Given the description of an element on the screen output the (x, y) to click on. 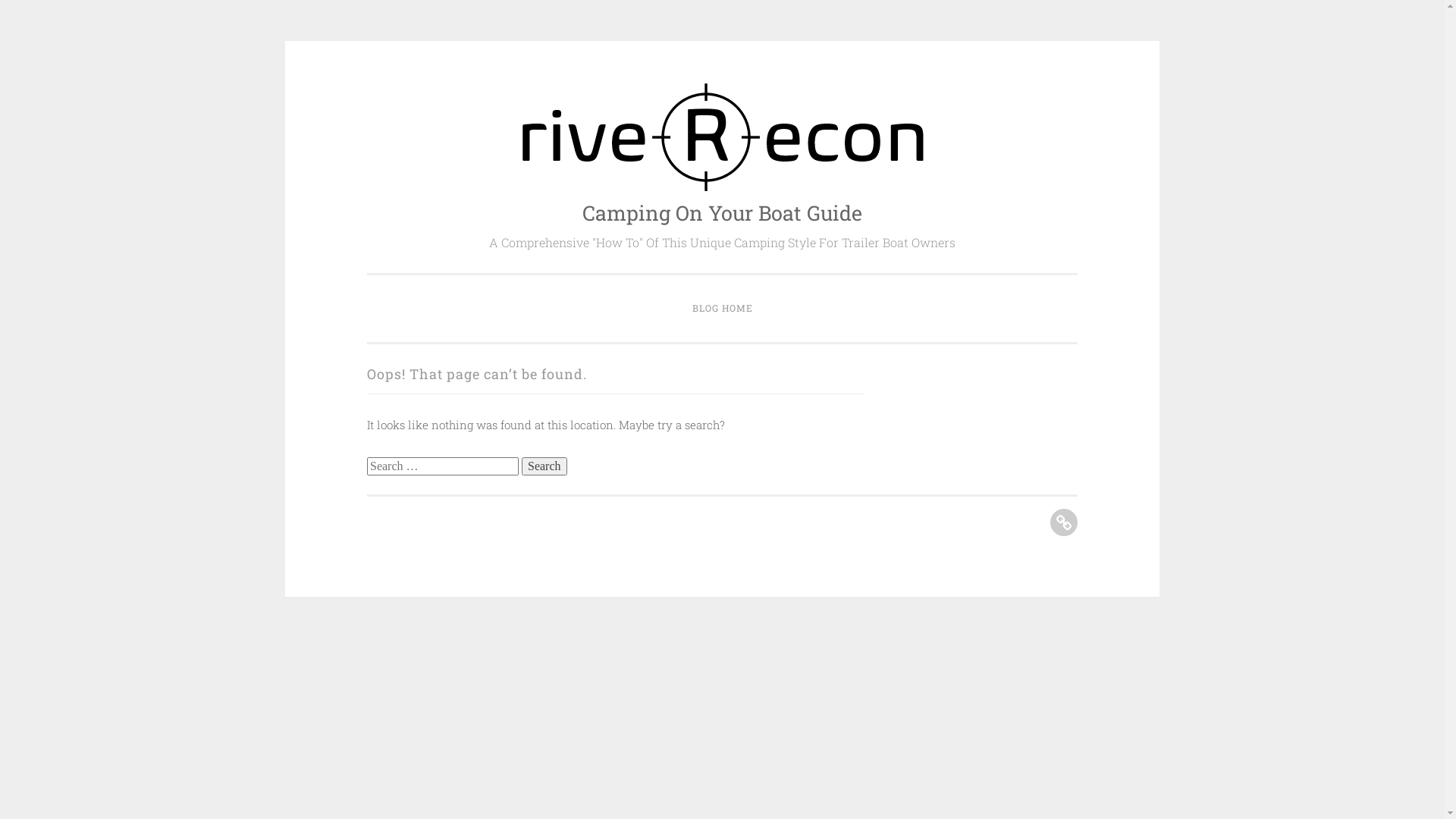
Skip to content Element type: text (366, 81)
Camping On Your Boat Guide Element type: text (722, 212)
Search Element type: text (544, 466)
BLOG HOME Element type: text (722, 308)
Blog Home Element type: text (1063, 522)
